Given the description of an element on the screen output the (x, y) to click on. 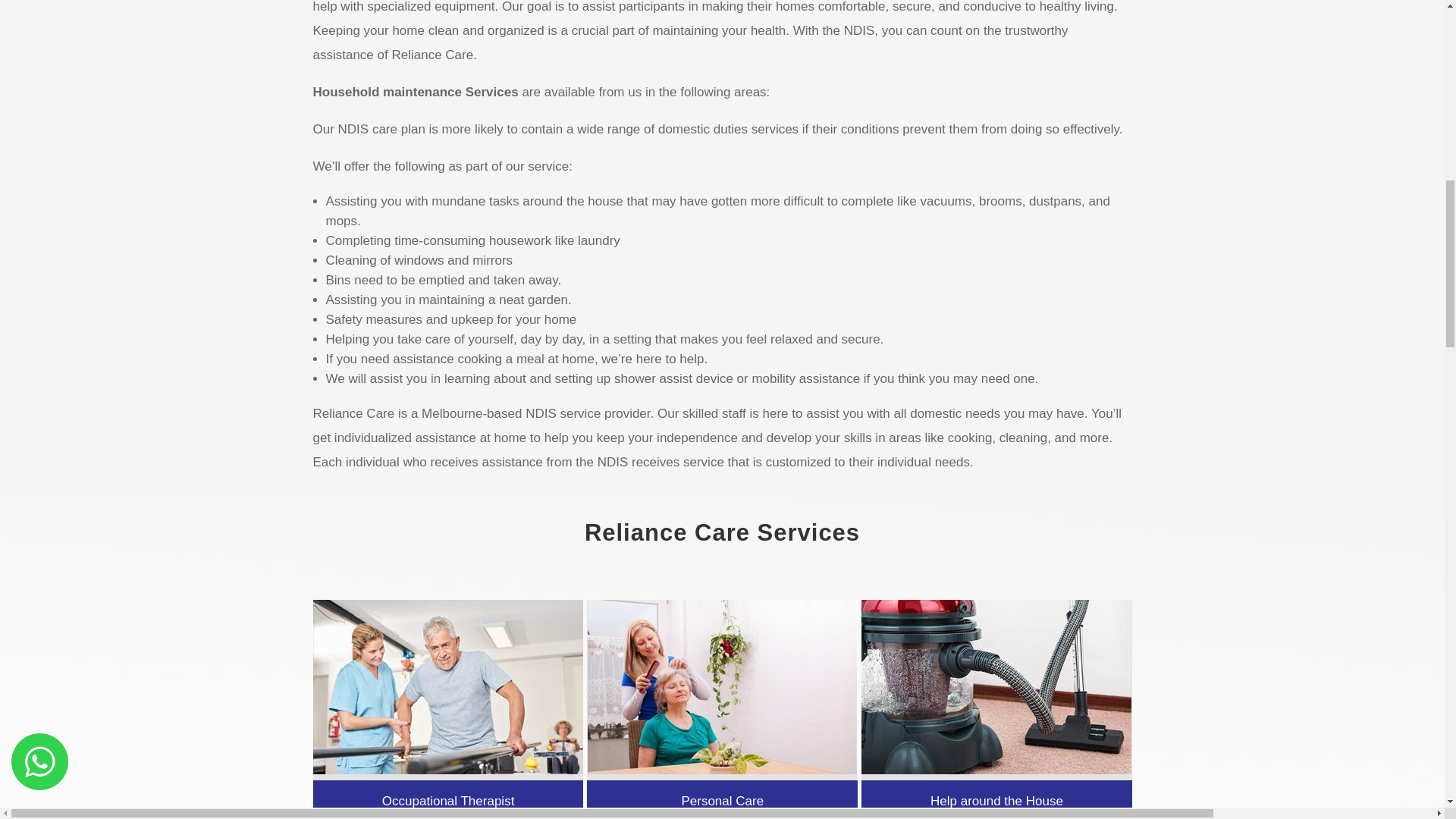
hrd66 Personal Care (722, 686)
OCCHRD (448, 686)
hrd2Help around the House (996, 686)
